Given the description of an element on the screen output the (x, y) to click on. 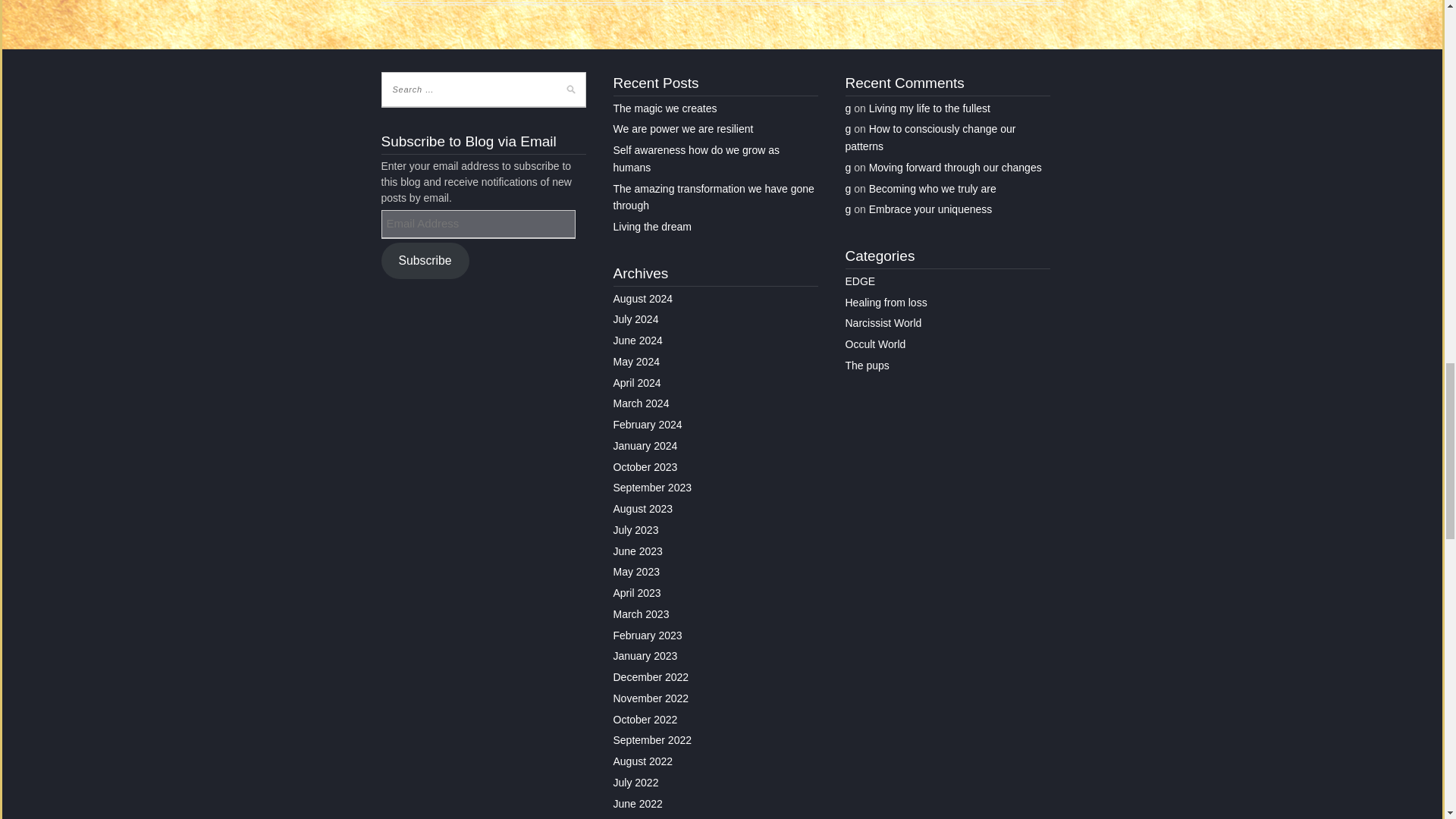
July 2024 (635, 318)
We are power we are resilient (682, 128)
January 2024 (644, 445)
March 2024 (640, 403)
July 2023 (635, 530)
August 2024 (642, 298)
Living the dream (651, 226)
February 2024 (646, 424)
October 2023 (644, 467)
April 2024 (636, 382)
